Given the description of an element on the screen output the (x, y) to click on. 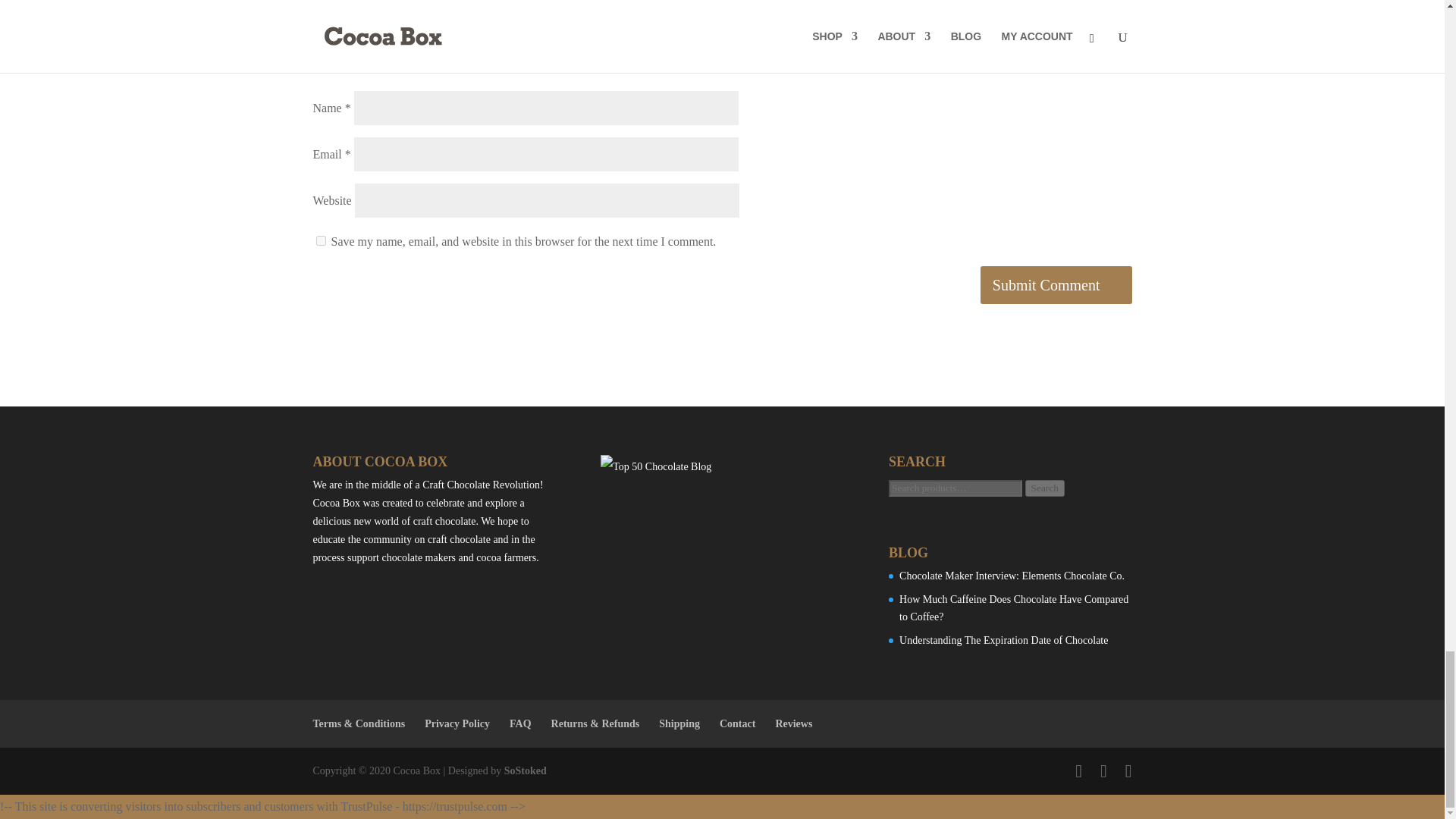
Understanding The Expiration Date of Chocolate (1003, 640)
Chocolate Maker Interview: Elements Chocolate Co. (1011, 575)
How Much Caffeine Does Chocolate Have Compared to Coffee? (1013, 608)
Submit Comment (1055, 284)
Submit Comment (1055, 284)
Search (1044, 487)
Privacy Policy (457, 723)
yes (319, 240)
FAQ (520, 723)
